Given the description of an element on the screen output the (x, y) to click on. 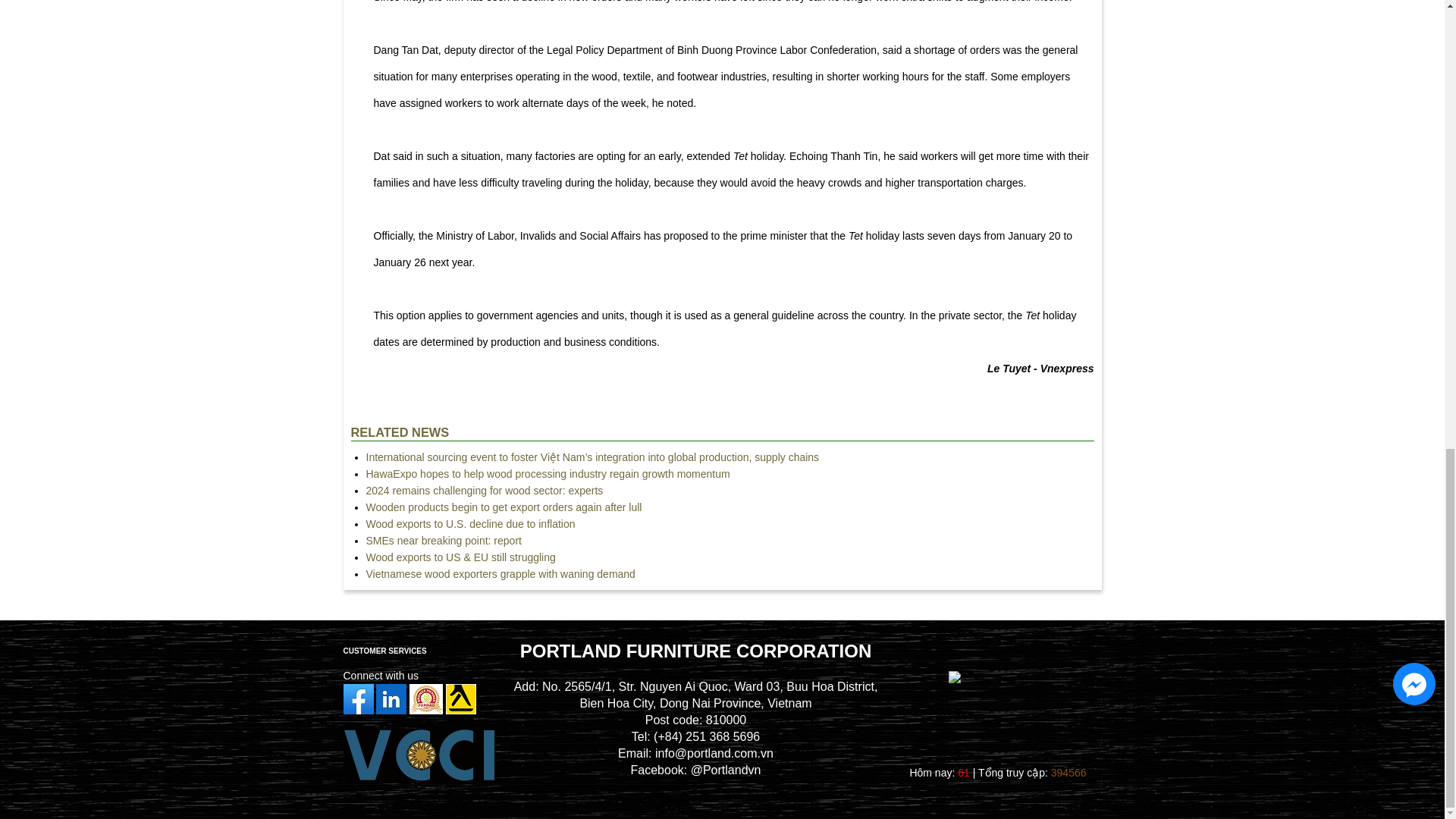
Vietnamese wood exporters grapple with waning demand (499, 573)
2024 remains challenging for wood sector: experts (483, 490)
Wooden products begin to get export orders again after lull (503, 507)
SMEs near breaking point: report (443, 540)
Wood exports to U.S. decline due to inflation (470, 523)
